Given the description of an element on the screen output the (x, y) to click on. 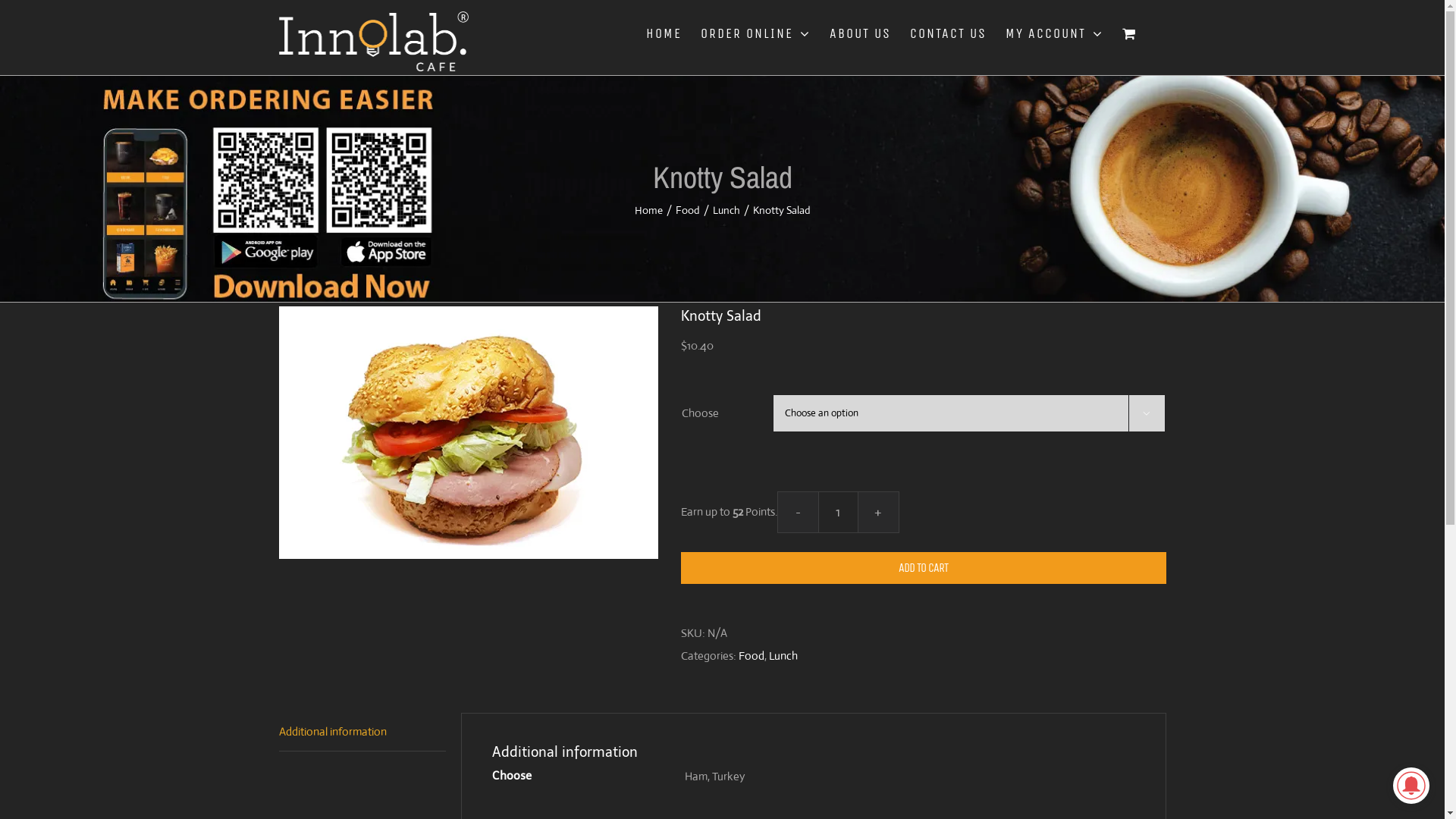
HOME Element type: text (663, 33)
Additional information Element type: text (362, 731)
CONTACT US Element type: text (948, 33)
Knotty-Ham Element type: hover (468, 432)
Lunch Element type: text (782, 654)
Food Element type: text (751, 654)
Home Element type: text (647, 209)
MY ACCOUNT Element type: text (1054, 33)
Lunch Element type: text (726, 209)
ABOUT US Element type: text (860, 33)
ORDER ONLINE Element type: text (755, 33)
ADD TO CART Element type: text (923, 567)
Food Element type: text (686, 209)
